Given the description of an element on the screen output the (x, y) to click on. 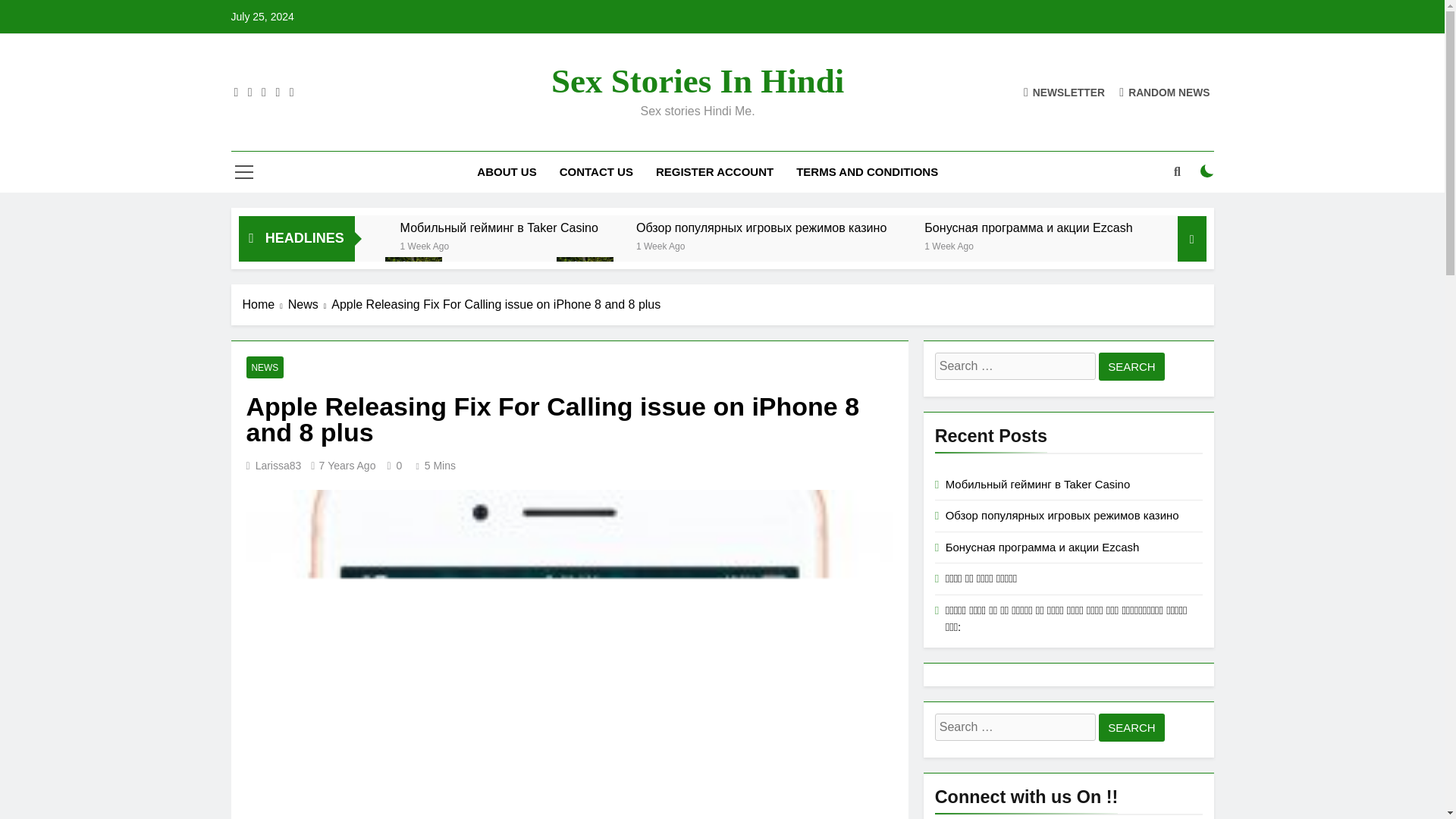
Sex Stories In Hindi (697, 80)
Larissa83 (278, 465)
CONTACT US (596, 171)
News (309, 304)
1 Week Ago (660, 245)
REGISTER ACCOUNT (714, 171)
on (1206, 171)
1 Week Ago (949, 245)
Search (1131, 727)
NEWS (264, 367)
Home (265, 304)
NEWSLETTER (1064, 91)
Search (1131, 366)
1 Week Ago (424, 245)
ABOUT US (506, 171)
